Given the description of an element on the screen output the (x, y) to click on. 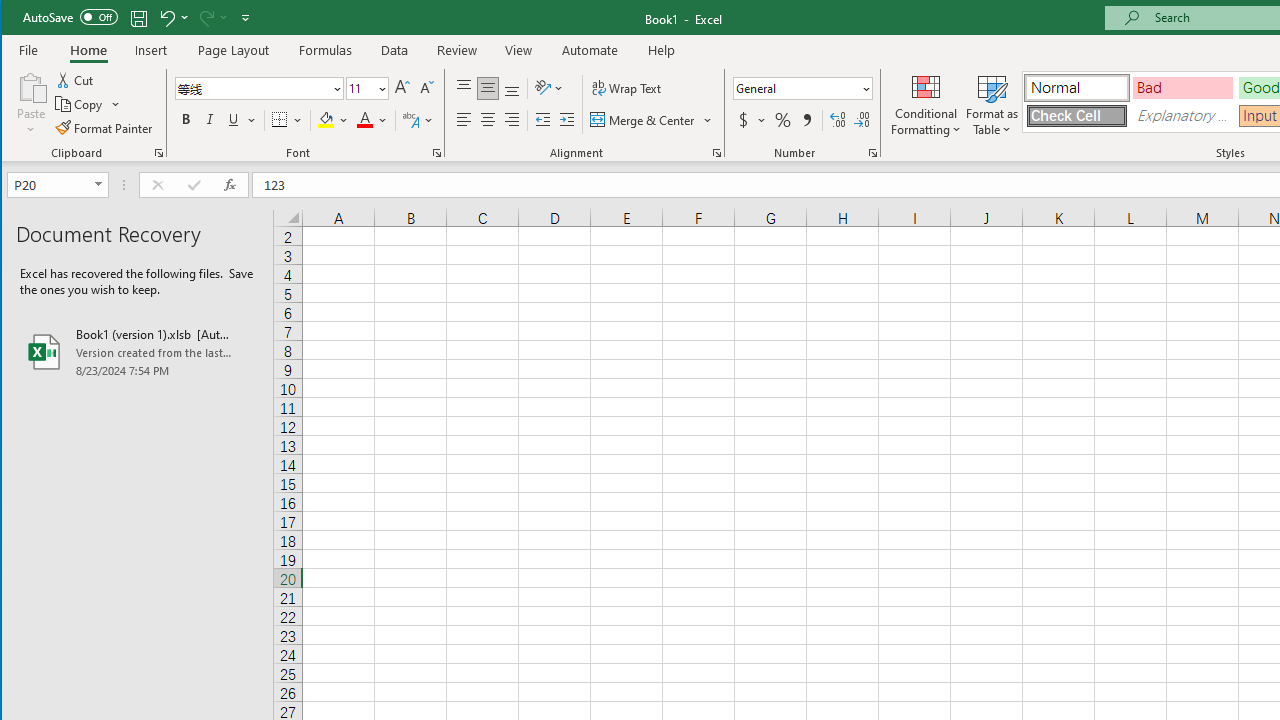
Borders (286, 119)
Accounting Number Format (744, 119)
Format Cell Font (436, 152)
